Given the description of an element on the screen output the (x, y) to click on. 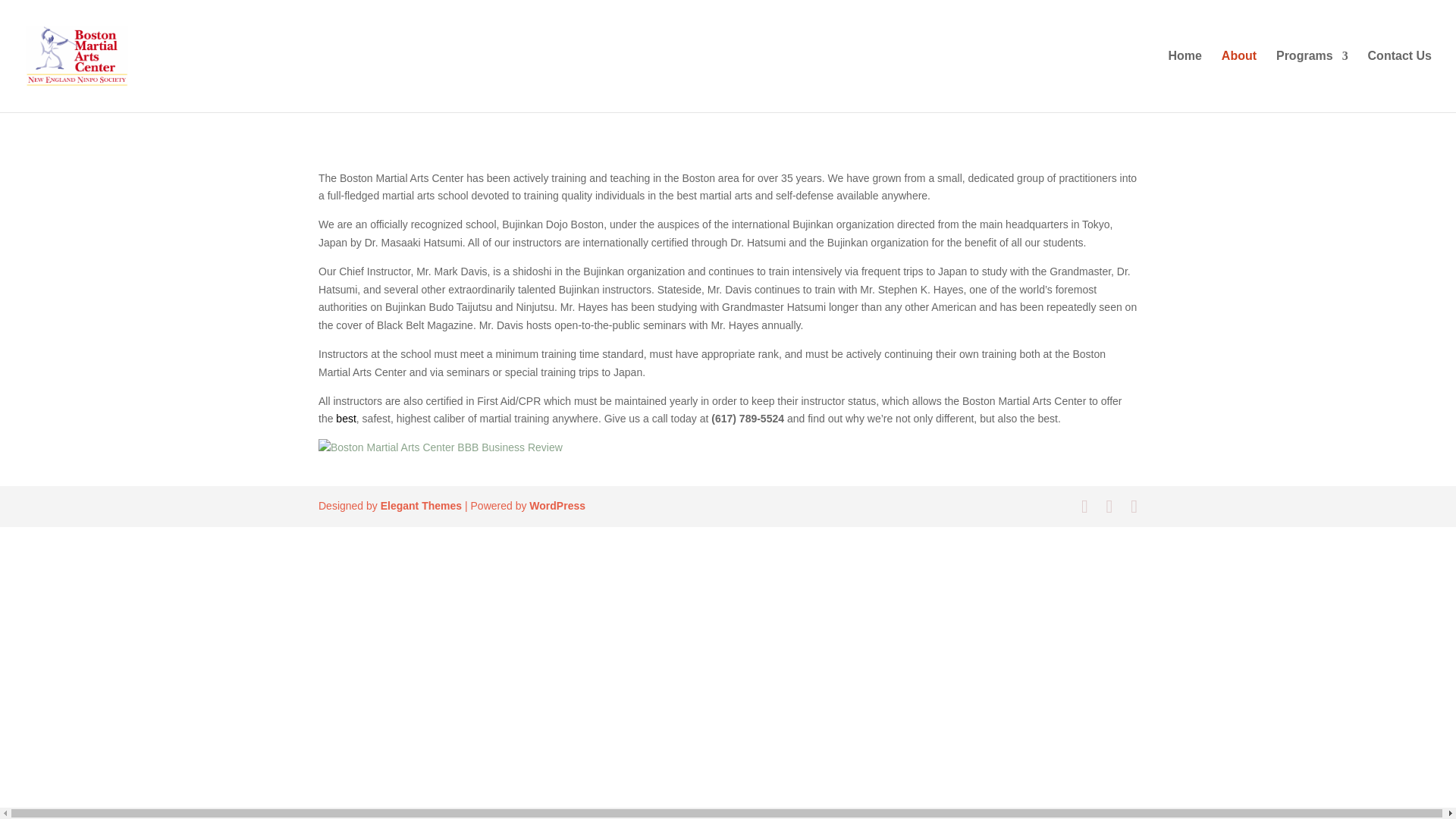
Elegant Themes (420, 505)
Contact Us (1399, 81)
Programs (1312, 81)
Boston Martial Arts Center BBB Business Review (440, 447)
WordPress (557, 505)
Premium WordPress Themes (420, 505)
best (345, 418)
